Given the description of an element on the screen output the (x, y) to click on. 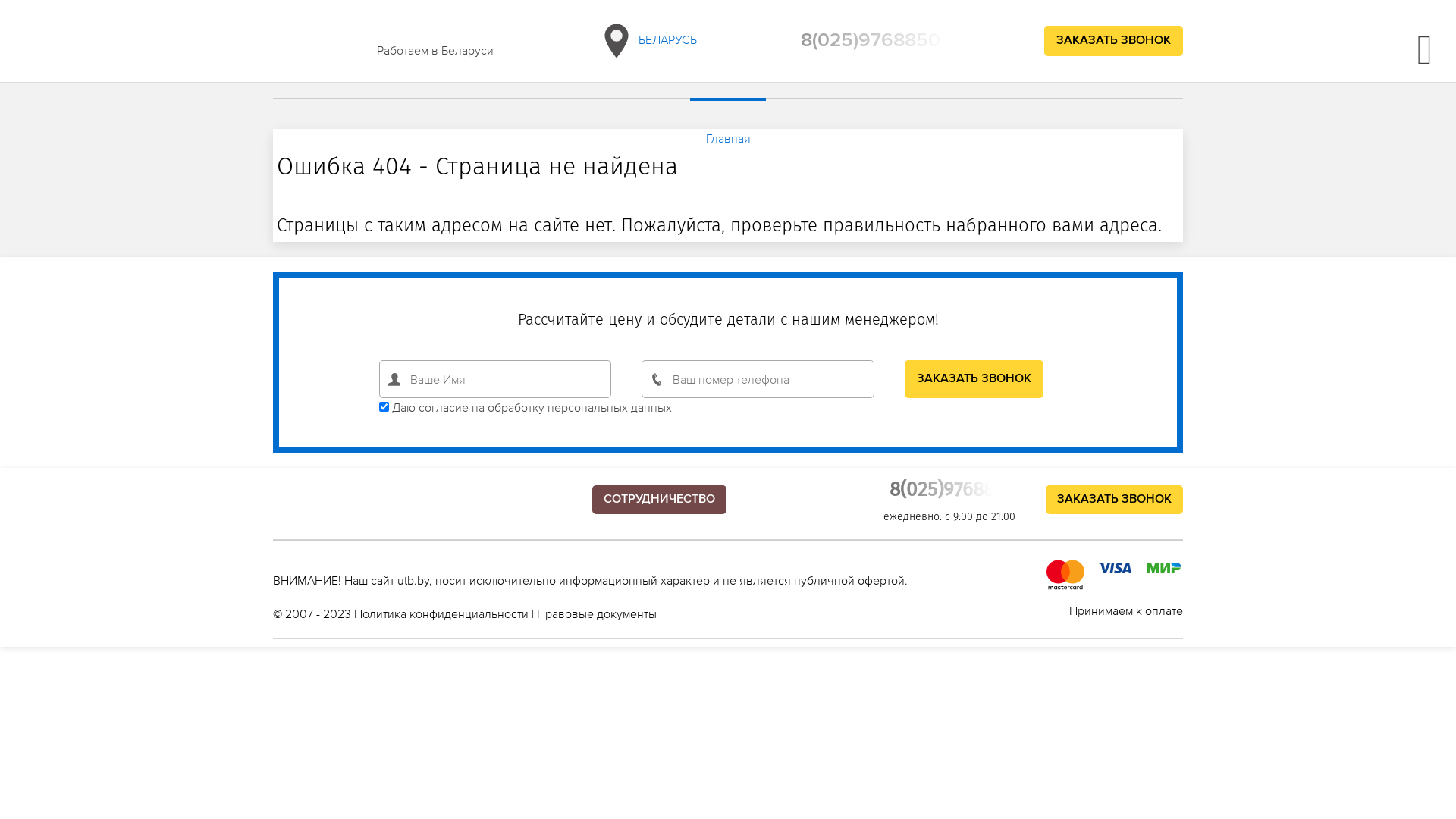
8(025)9768850 Element type: text (870, 40)
8(025)9768850 Element type: text (952, 489)
